Given the description of an element on the screen output the (x, y) to click on. 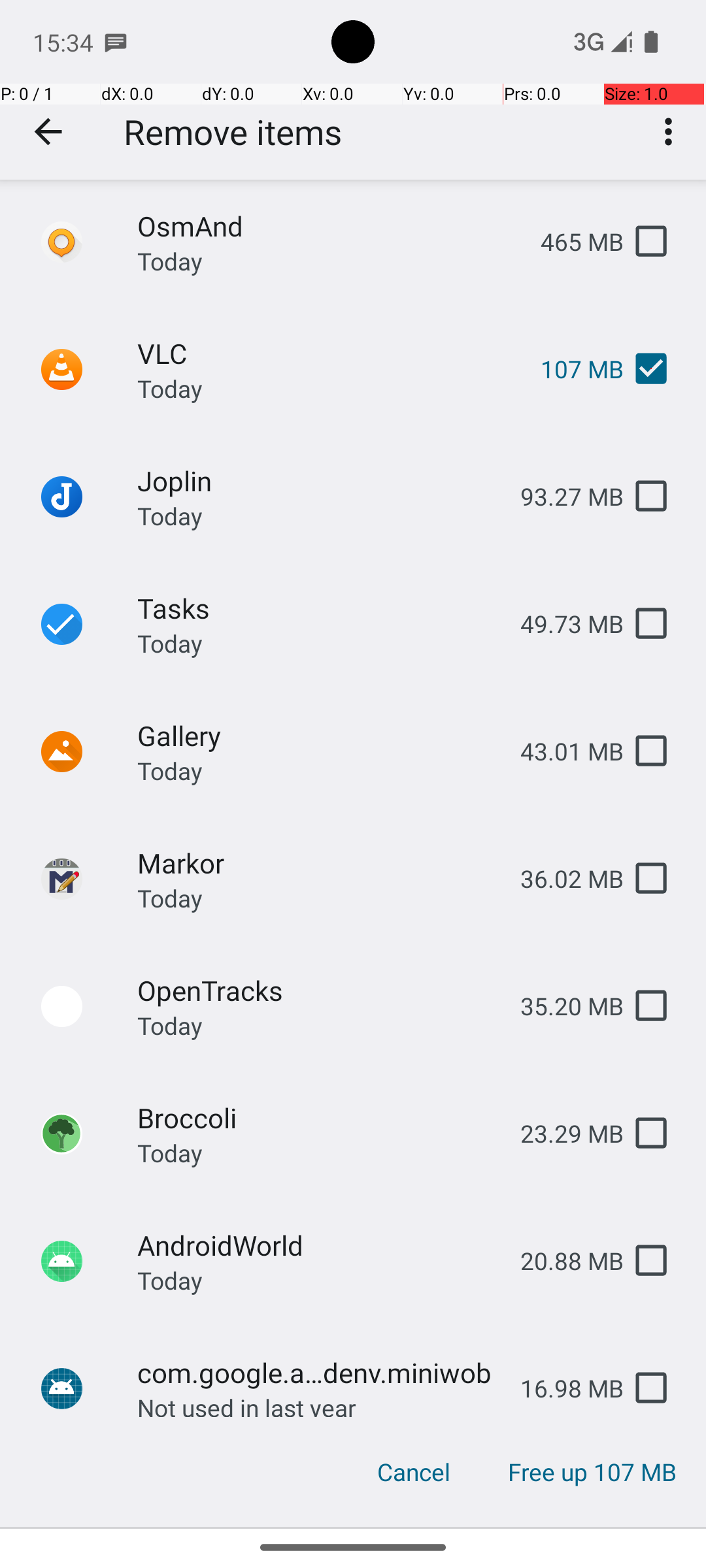
Remove items Element type: android.widget.TextView (232, 131)
Free up 107 MB Element type: android.widget.Button (592, 1471)
465 MB Element type: android.widget.TextView (571, 241)
107 MB Element type: android.widget.TextView (571, 368)
93.27 MB Element type: android.widget.TextView (561, 495)
49.73 MB Element type: android.widget.TextView (561, 623)
43.01 MB Element type: android.widget.TextView (561, 750)
36.02 MB Element type: android.widget.TextView (561, 878)
35.20 MB Element type: android.widget.TextView (561, 1005)
23.29 MB Element type: android.widget.TextView (561, 1132)
20.88 MB Element type: android.widget.TextView (561, 1260)
com.google.androidenv.miniwob Element type: android.widget.TextView (318, 1371)
Not used in last year Element type: android.widget.TextView (246, 1403)
16.98 MB Element type: android.widget.TextView (561, 1387)
